Given the description of an element on the screen output the (x, y) to click on. 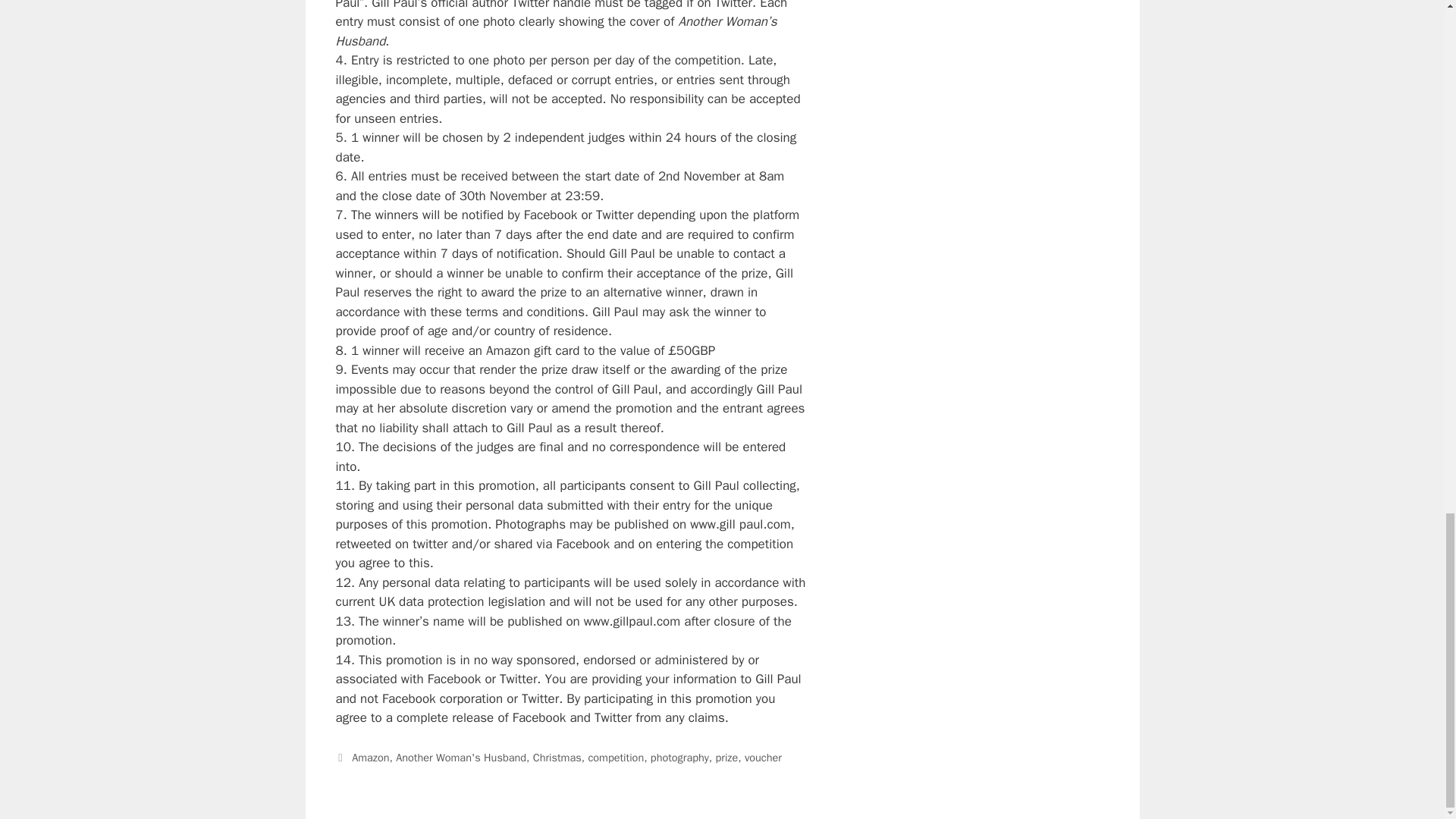
Christmas (556, 757)
Amazon (370, 757)
Another Woman's Husband (460, 757)
competition (615, 757)
photography (679, 757)
